Given the description of an element on the screen output the (x, y) to click on. 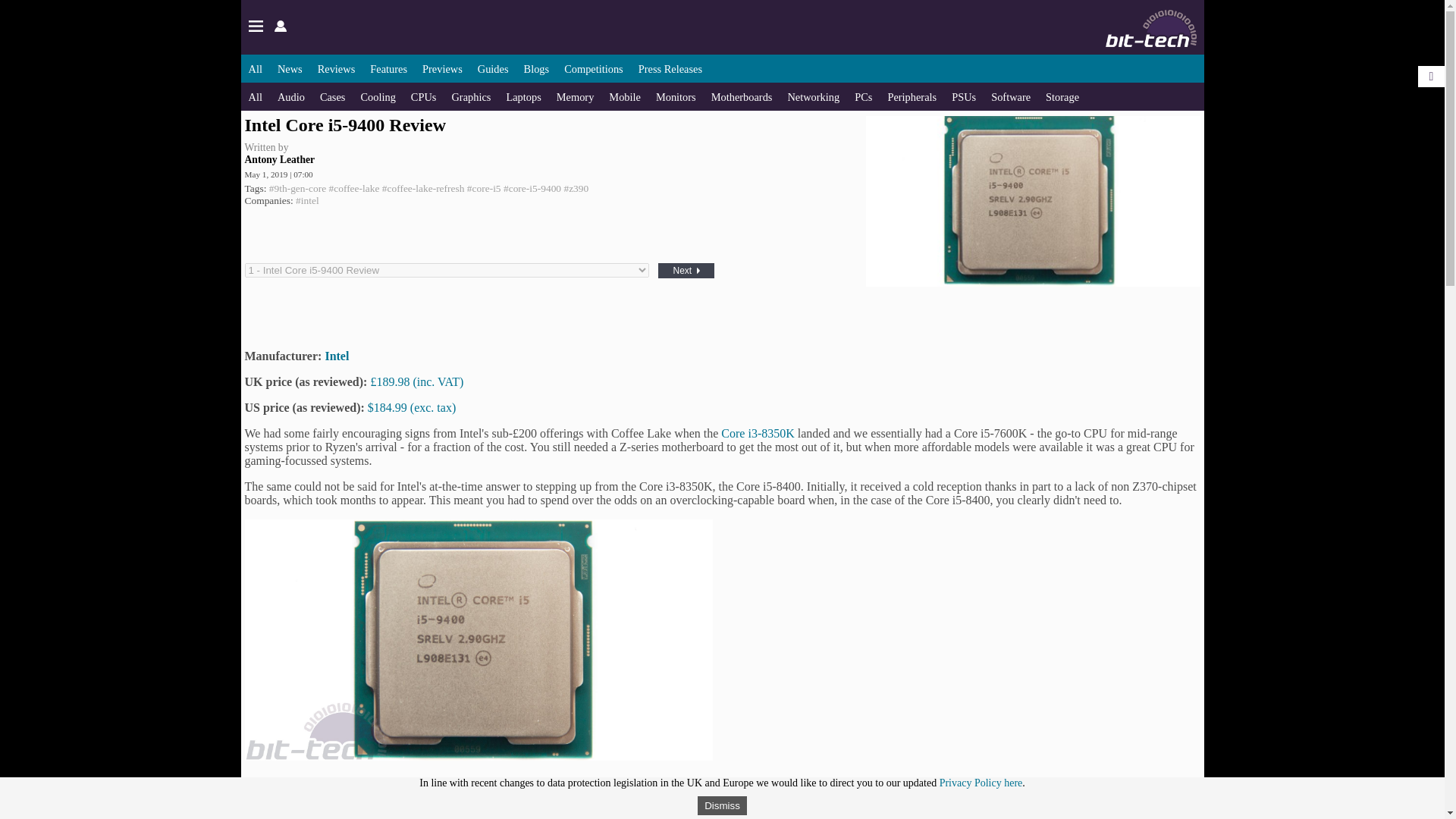
Reviews (336, 69)
Audio (291, 96)
PCs (863, 96)
All (255, 69)
Laptops (522, 96)
CPUs (423, 96)
Monitors (675, 96)
Cases (333, 96)
Competitions (593, 69)
PSUs (963, 96)
All (255, 96)
Networking (813, 96)
Graphics (470, 96)
Features (388, 69)
Blogs (537, 69)
